Given the description of an element on the screen output the (x, y) to click on. 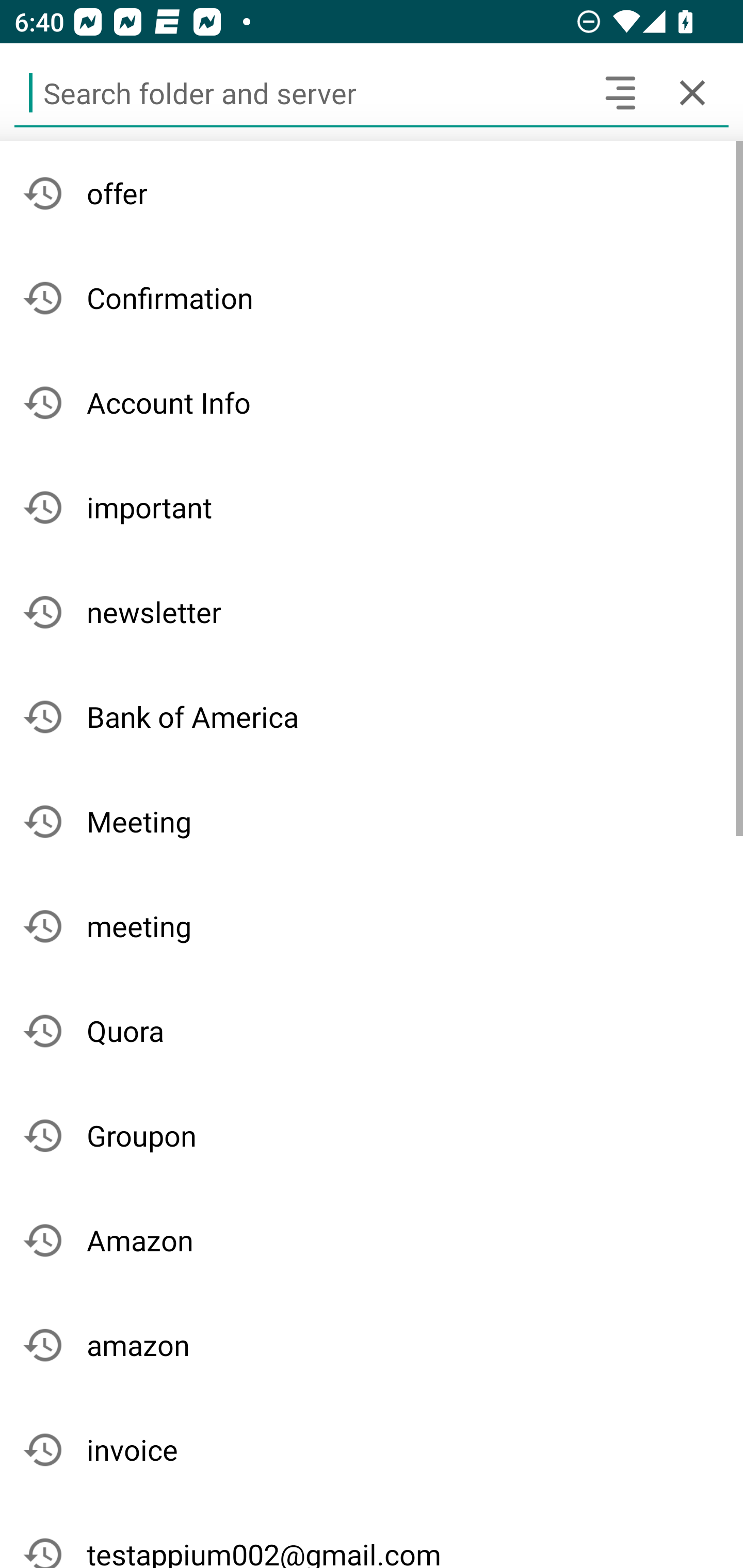
   Search folder and server (298, 92)
Search headers and text (619, 92)
Cancel (692, 92)
